Given the description of an element on the screen output the (x, y) to click on. 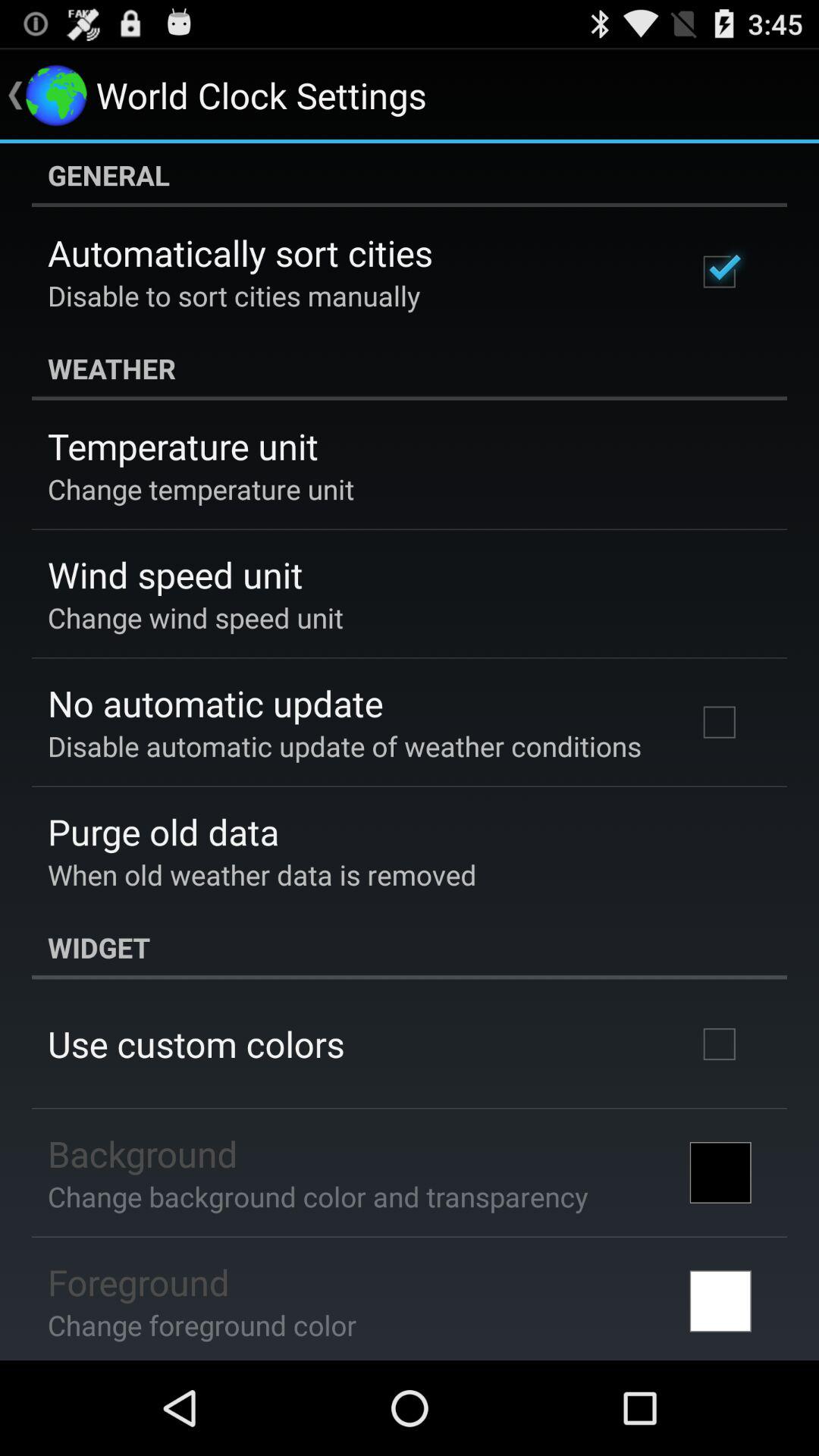
turn on item above background (195, 1043)
